Given the description of an element on the screen output the (x, y) to click on. 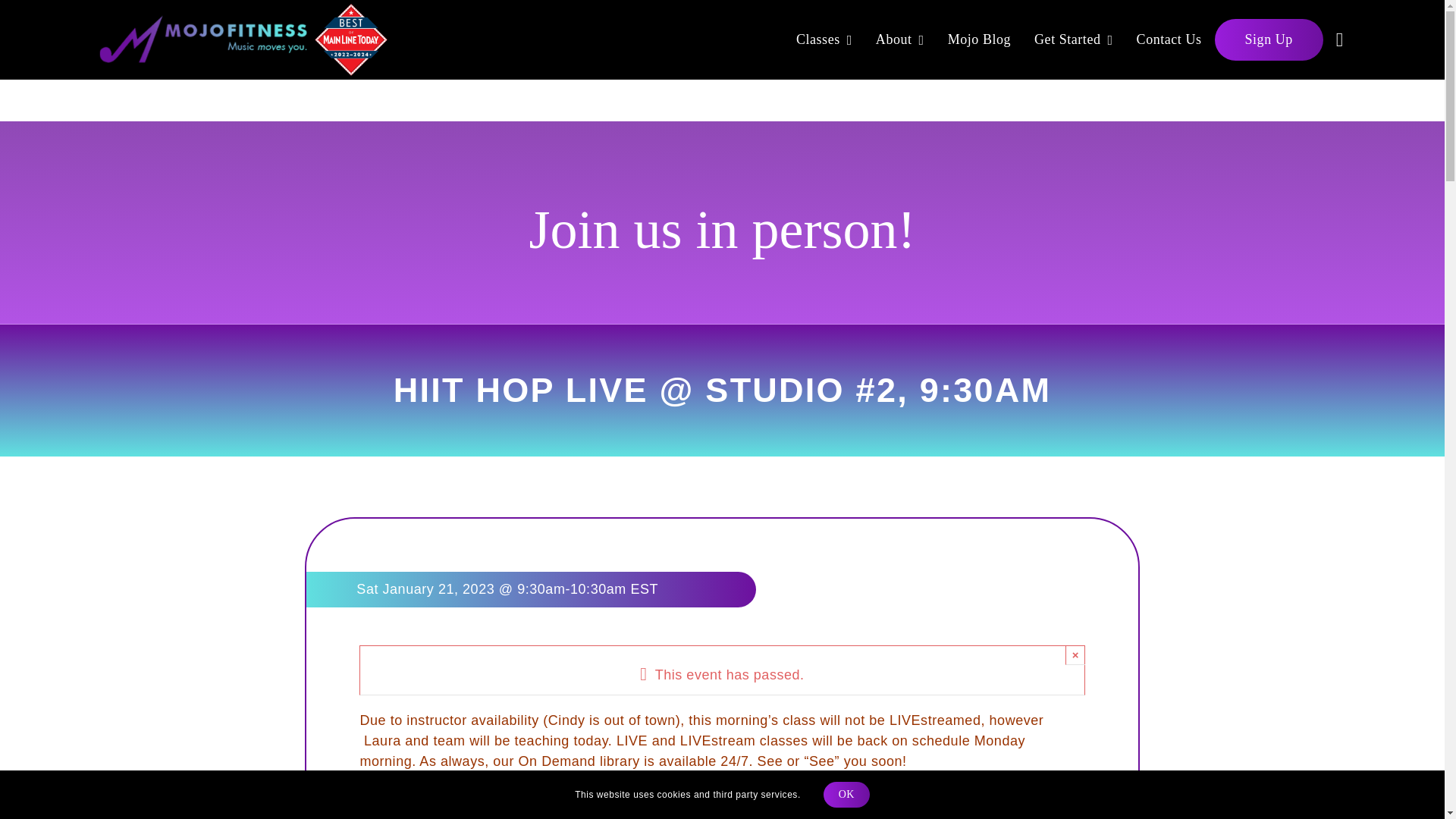
Contact Us (1168, 39)
Sign Up (1268, 39)
About Mojo Fitness (899, 39)
Classes (824, 39)
About (899, 39)
Classes (824, 39)
Get Started (1073, 39)
Mojo Blog (979, 39)
